Given the description of an element on the screen output the (x, y) to click on. 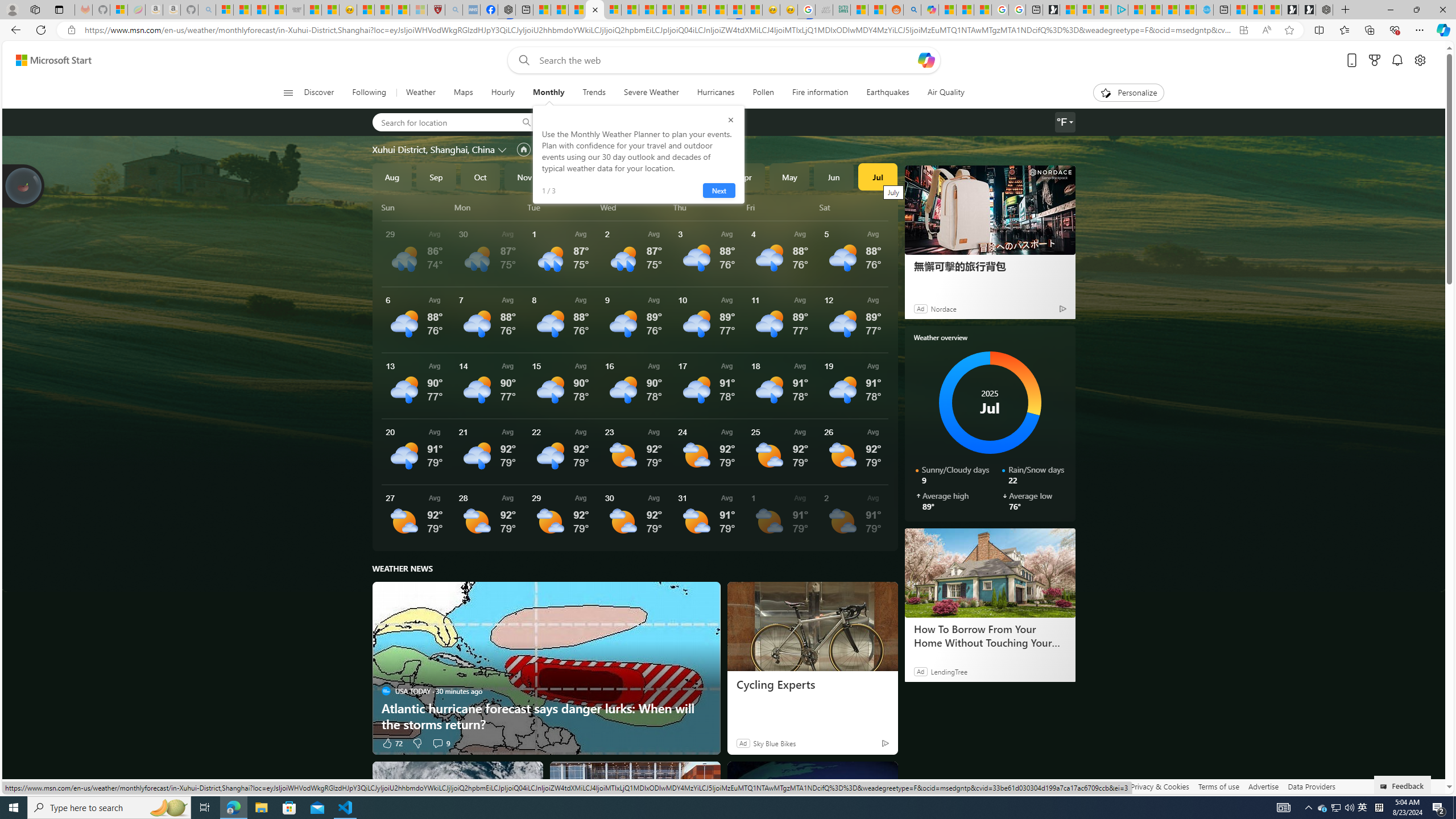
Data Providers (1311, 785)
Ad (742, 742)
2025 Jan (612, 176)
Jul (877, 176)
Pollen (763, 92)
